Given the description of an element on the screen output the (x, y) to click on. 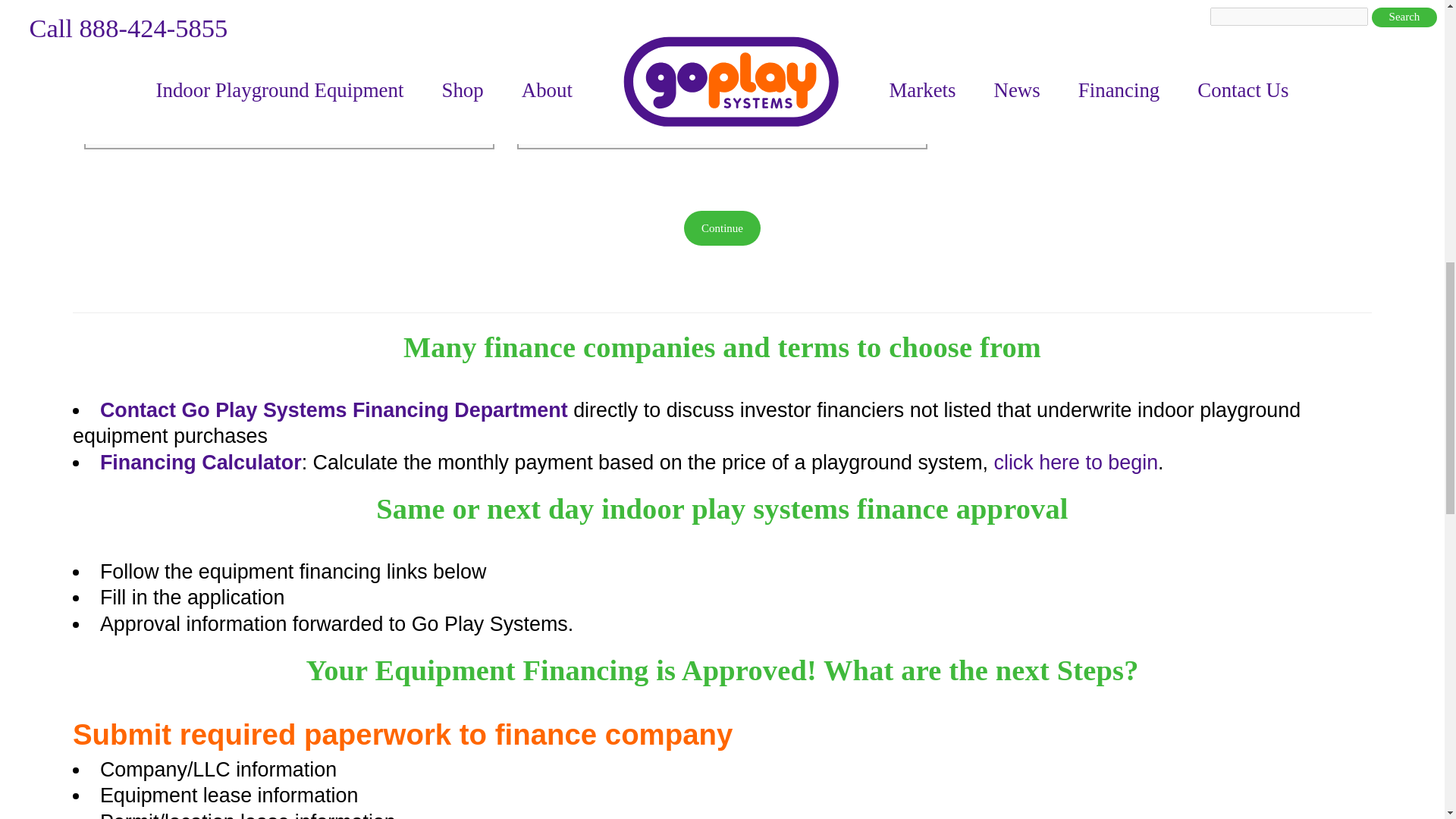
Continue (722, 227)
